Given the description of an element on the screen output the (x, y) to click on. 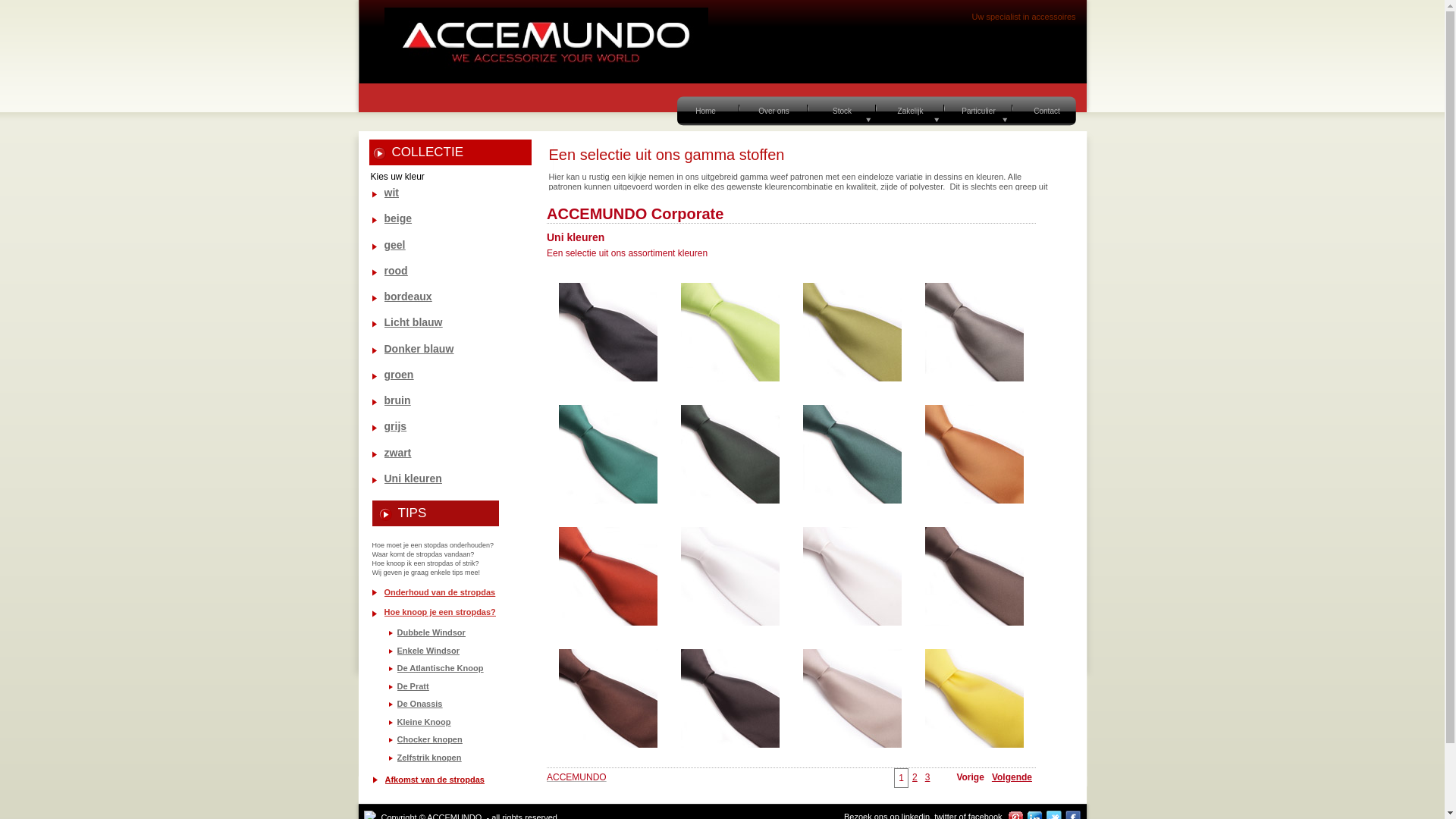
Contact Element type: text (1046, 110)
Home Element type: text (704, 110)
Licht blauw Element type: text (412, 322)
Zakelijk Element type: text (909, 110)
Particulier Element type: text (977, 110)
bordeaux Element type: text (407, 296)
groen Element type: text (398, 374)
bruin Element type: text (396, 400)
Afkomst van de stropdas Element type: text (434, 779)
De Onassis Element type: text (419, 703)
Zelfstrik knopen Element type: text (429, 757)
Enkele Windsor Element type: text (428, 650)
Donker blauw Element type: text (418, 348)
zwart Element type: text (397, 452)
Onderhoud van de stropdas Element type: text (439, 591)
geel Element type: text (393, 244)
Uni Element type: text (392, 478)
grijs Element type: text (394, 426)
Over ons Element type: text (773, 110)
De Atlantische Knoop Element type: text (440, 667)
Hoe knoop je een stropdas? Element type: text (439, 611)
Stock Element type: text (841, 110)
Chocker knopen Element type: text (429, 738)
kleuren Element type: text (421, 478)
Kleine Knoop Element type: text (424, 721)
De Pratt Element type: text (413, 685)
wit Element type: text (390, 192)
Dubbele Windsor Element type: text (431, 632)
rood Element type: text (395, 270)
